Given the description of an element on the screen output the (x, y) to click on. 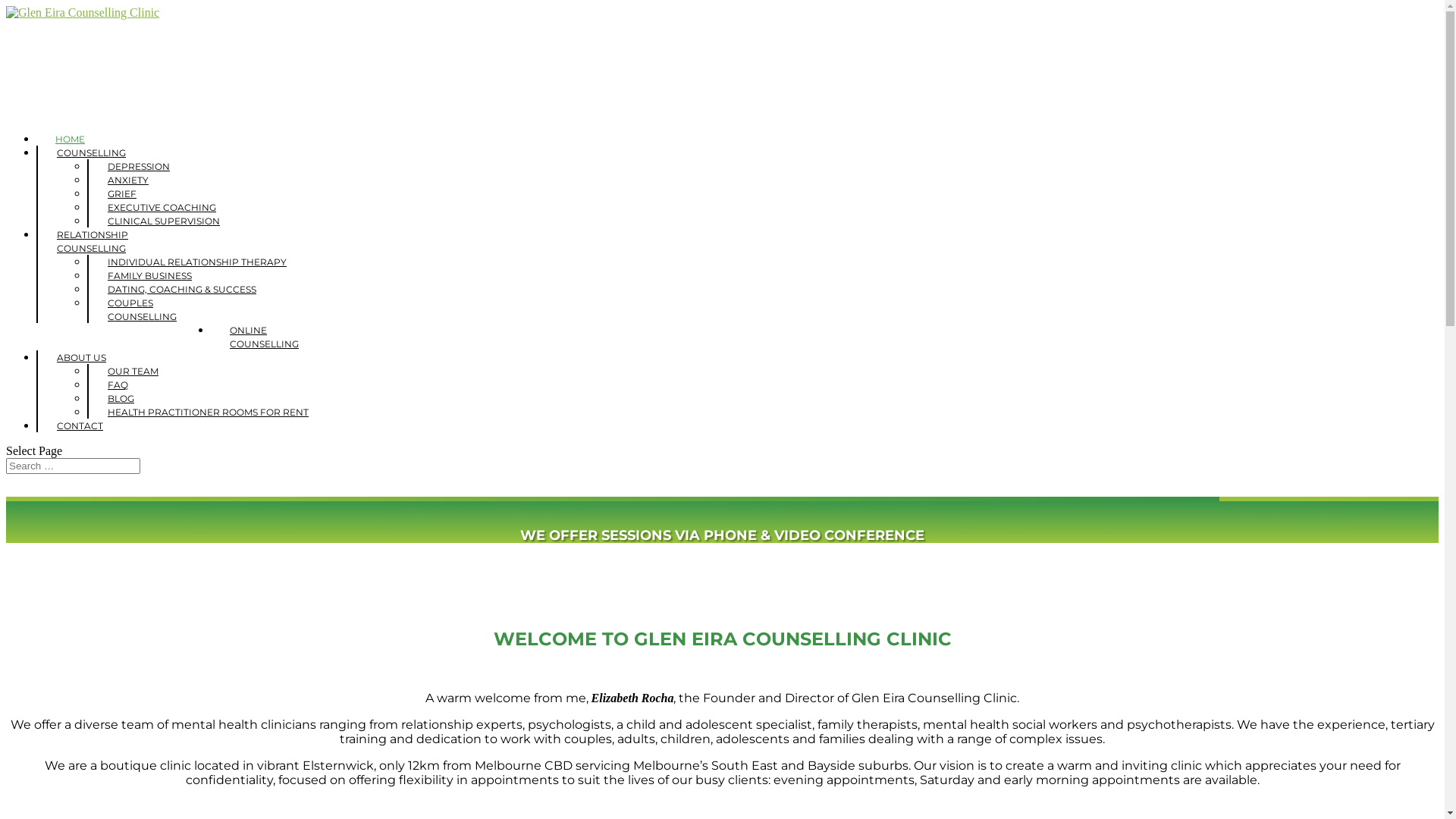
ONLINE
COUNSELLING Element type: text (263, 347)
ANXIETY Element type: text (127, 179)
GRIEF Element type: text (121, 193)
CLINICAL SUPERVISION Element type: text (163, 220)
Search for: Element type: hover (73, 465)
FAQ Element type: text (117, 384)
RELATIONSHIP
COUNSELLING Element type: text (92, 251)
EXECUTIVE COACHING Element type: text (161, 207)
OUR TEAM Element type: text (132, 370)
HOME Element type: text (69, 149)
COUNSELLING Element type: text (90, 162)
FAMILY BUSINESS Element type: text (149, 275)
COUPLES
COUNSELLING Element type: text (141, 309)
INDIVIDUAL RELATIONSHIP THERAPY Element type: text (196, 261)
DATING, COACHING & SUCCESS Element type: text (181, 288)
BLOG Element type: text (120, 398)
CONTACT Element type: text (79, 435)
HEALTH PRACTITIONER ROOMS FOR RENT Element type: text (207, 411)
DEPRESSION Element type: text (138, 166)
ABOUT US Element type: text (81, 367)
